Given the description of an element on the screen output the (x, y) to click on. 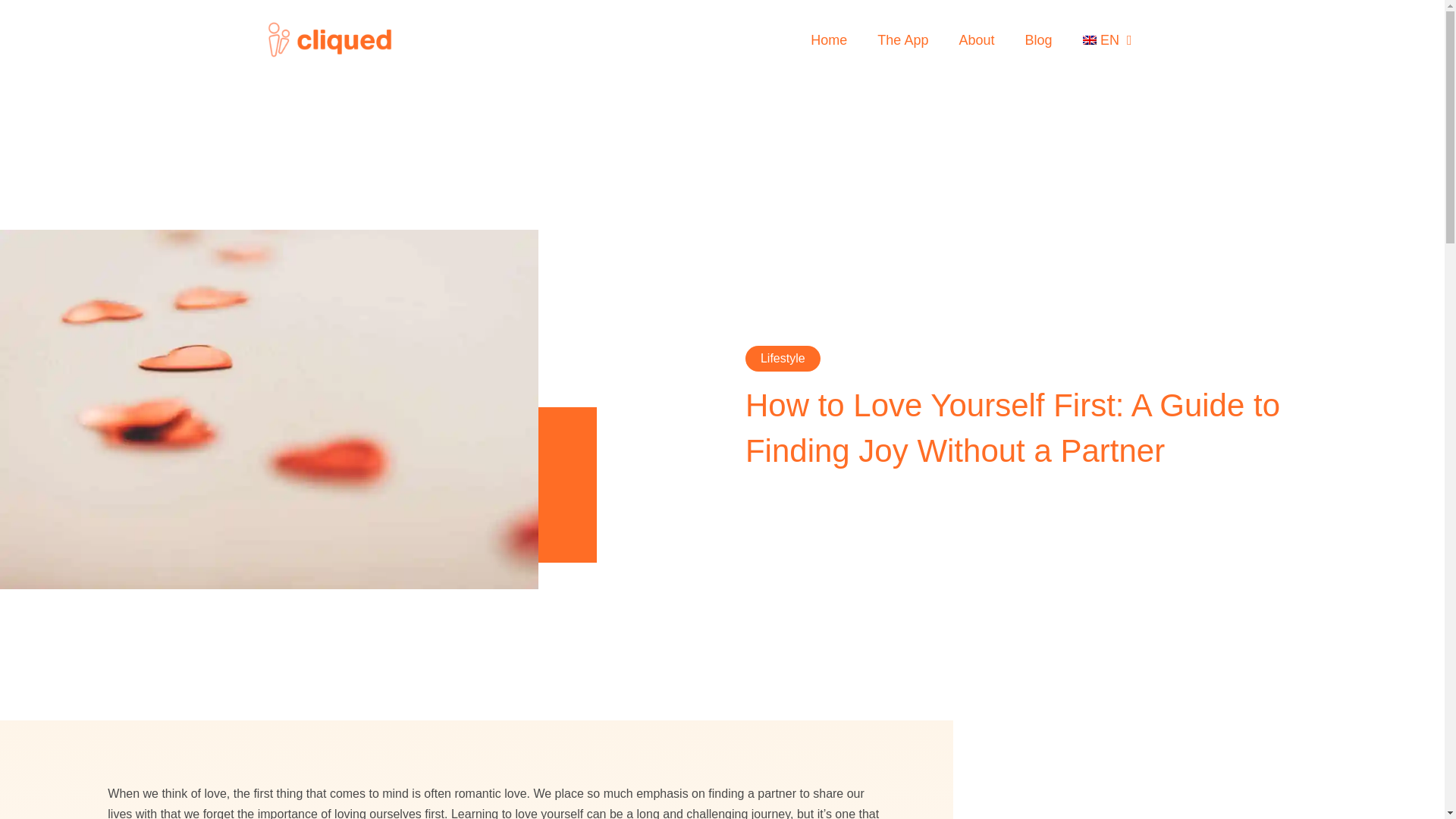
EN (1107, 39)
Home (827, 39)
The App (902, 39)
EN (1107, 39)
About (976, 39)
Blog (1038, 39)
